Given the description of an element on the screen output the (x, y) to click on. 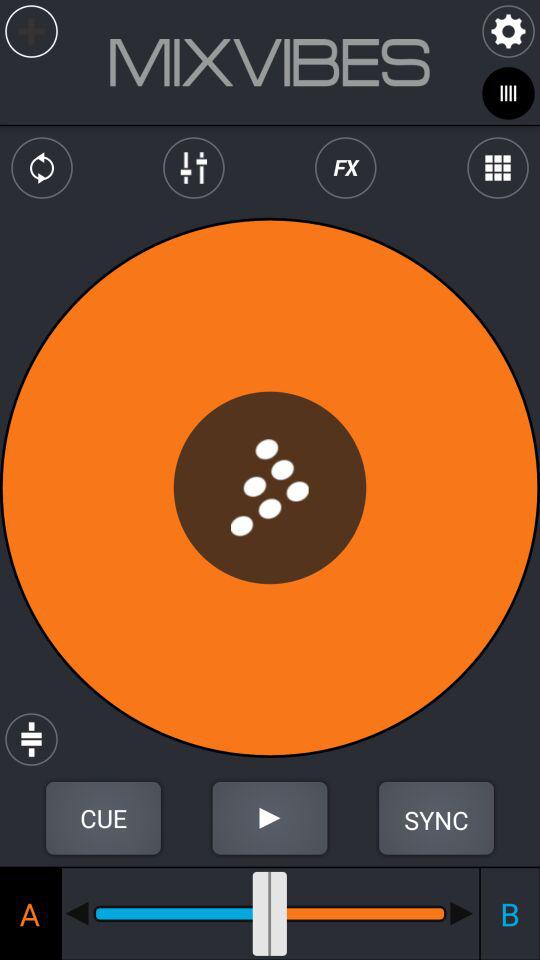
toggle overview option (497, 167)
